Given the description of an element on the screen output the (x, y) to click on. 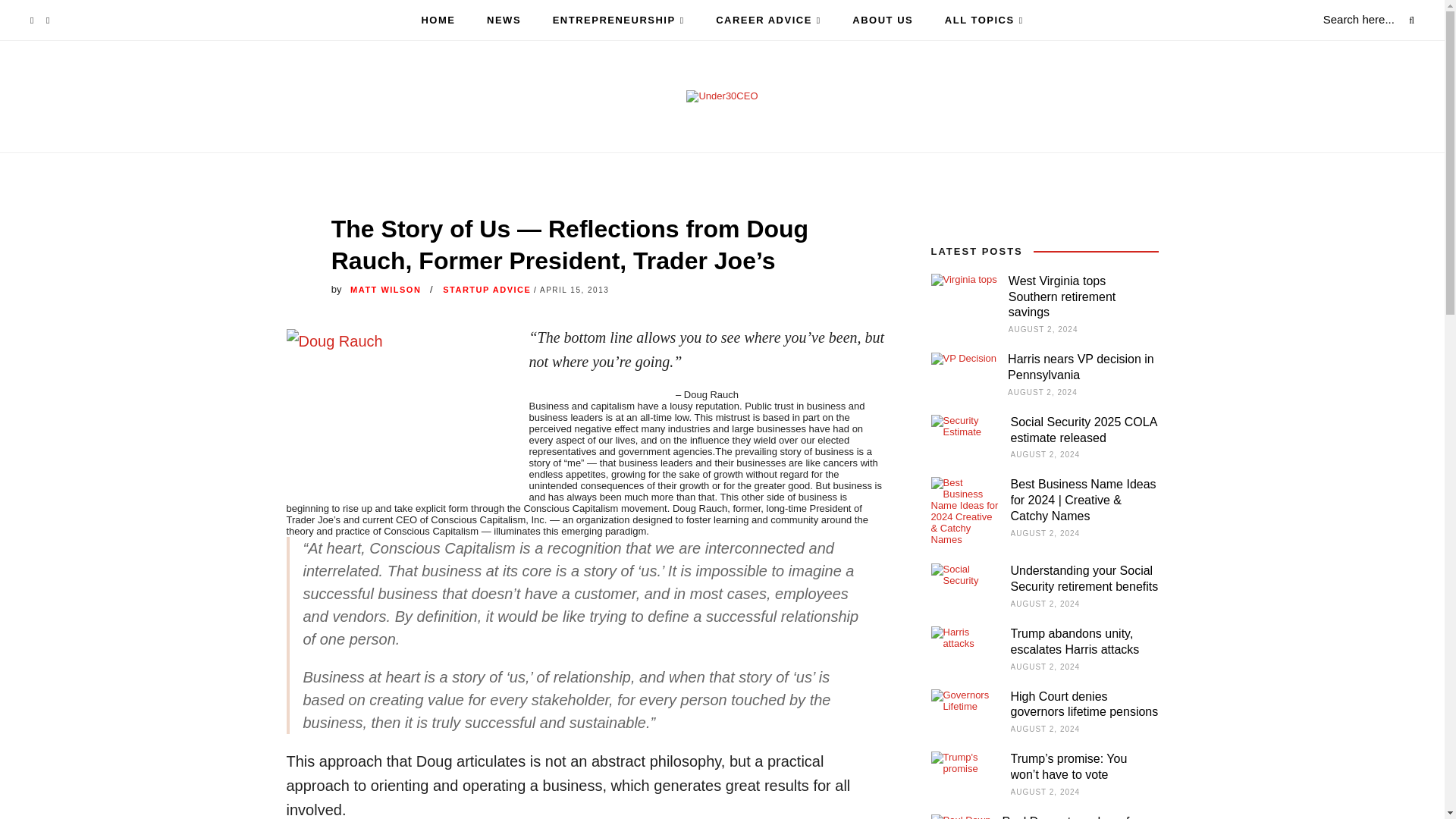
ALL TOPICS (983, 20)
CAREER ADVICE (768, 20)
ABOUT US (881, 20)
MATT WILSON (385, 289)
Posts by Matt Wilson (385, 289)
NEWS (503, 20)
APRIL 15, 2013 (574, 289)
HOME (437, 20)
ENTREPRENEURSHIP (618, 20)
STARTUP ADVICE (486, 289)
